Given the description of an element on the screen output the (x, y) to click on. 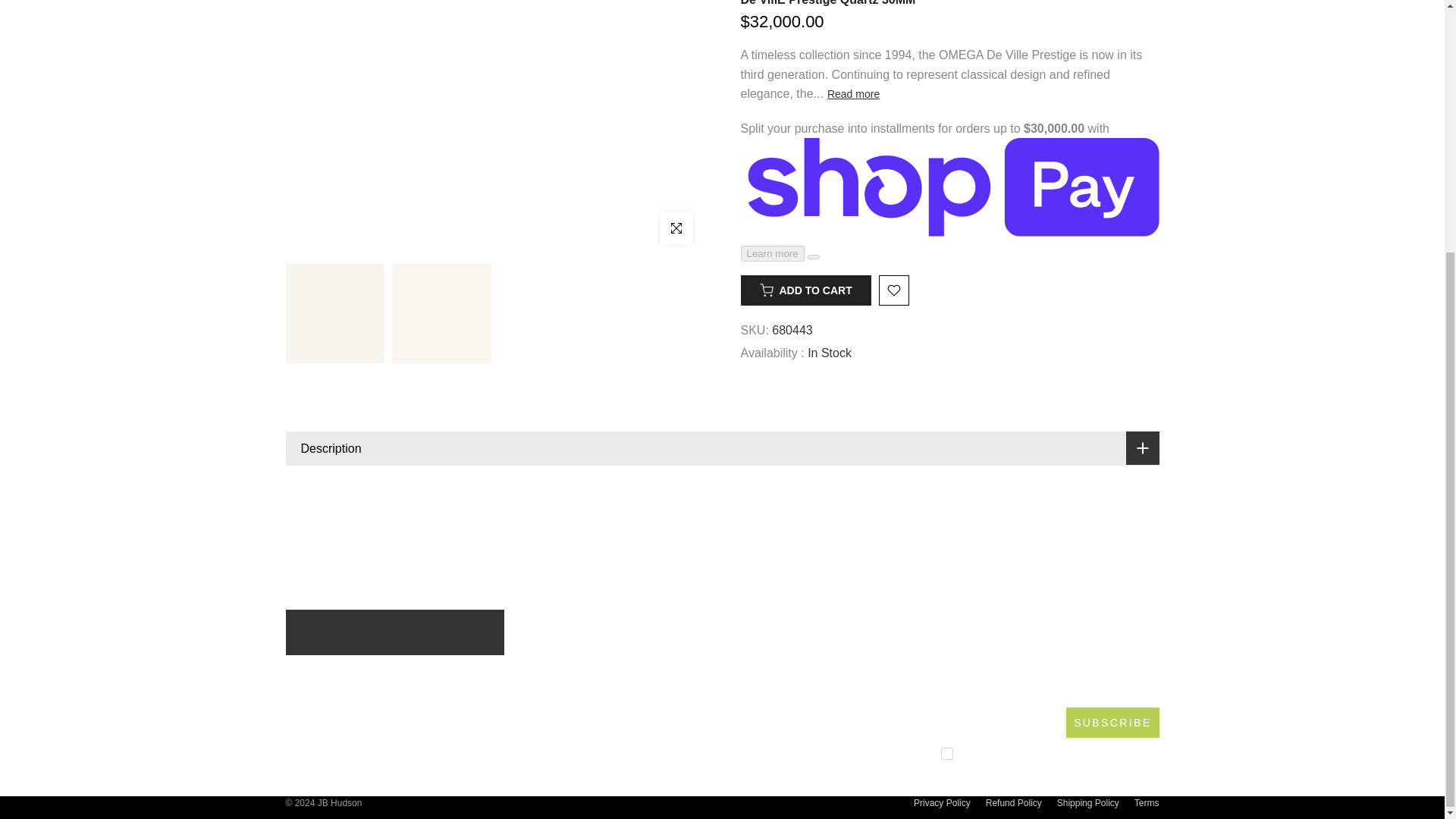
Description (721, 448)
Refund Policy (1013, 802)
Blog (831, 698)
Terms (1146, 802)
Shipping Policy (1088, 802)
About Us (831, 649)
Privacy Policy (942, 802)
Magazine (831, 723)
Services (830, 674)
SUBSCRIBE (1111, 722)
